Given the description of an element on the screen output the (x, y) to click on. 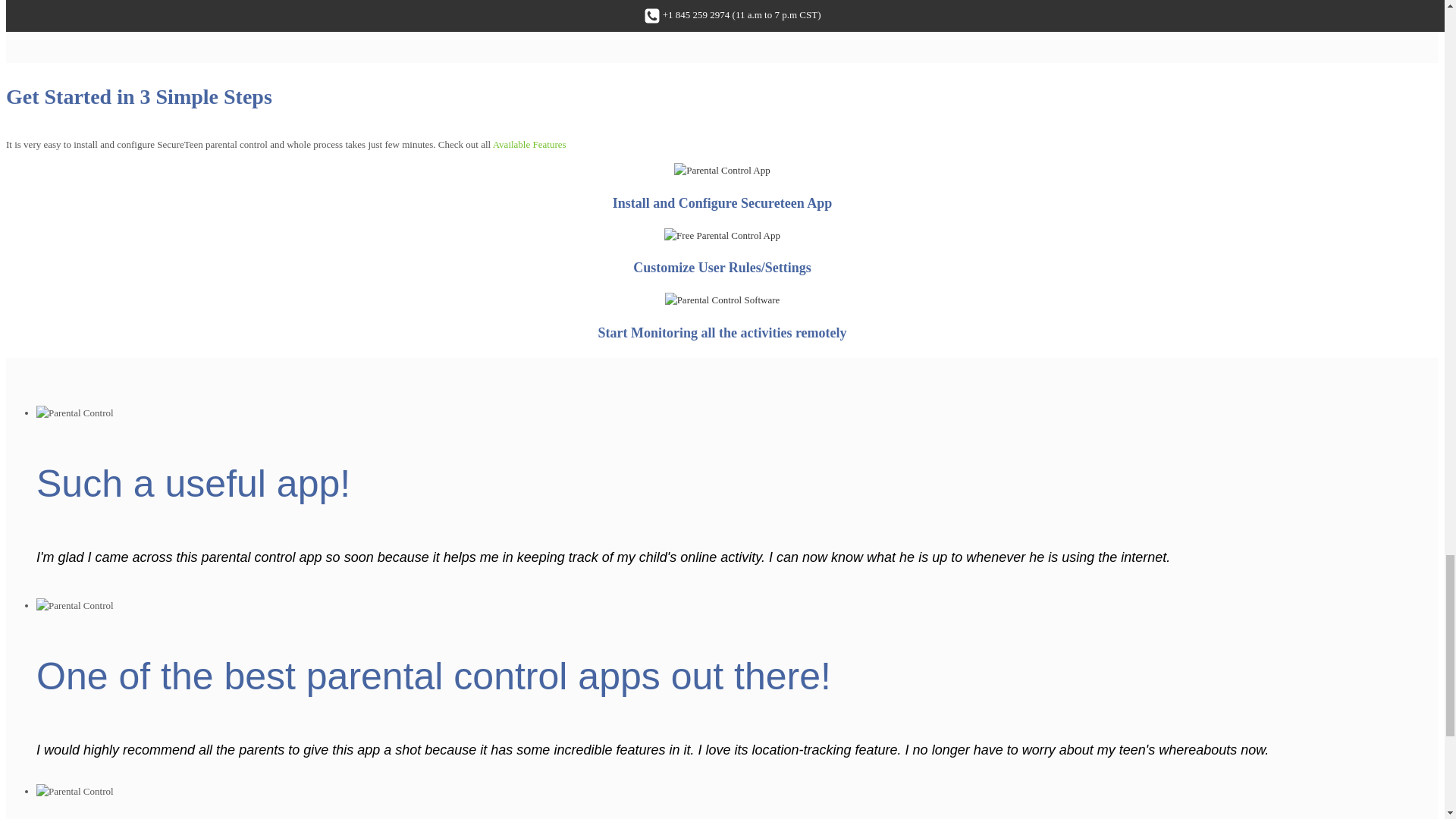
Available Features (529, 143)
Try it Free (722, 10)
